Given the description of an element on the screen output the (x, y) to click on. 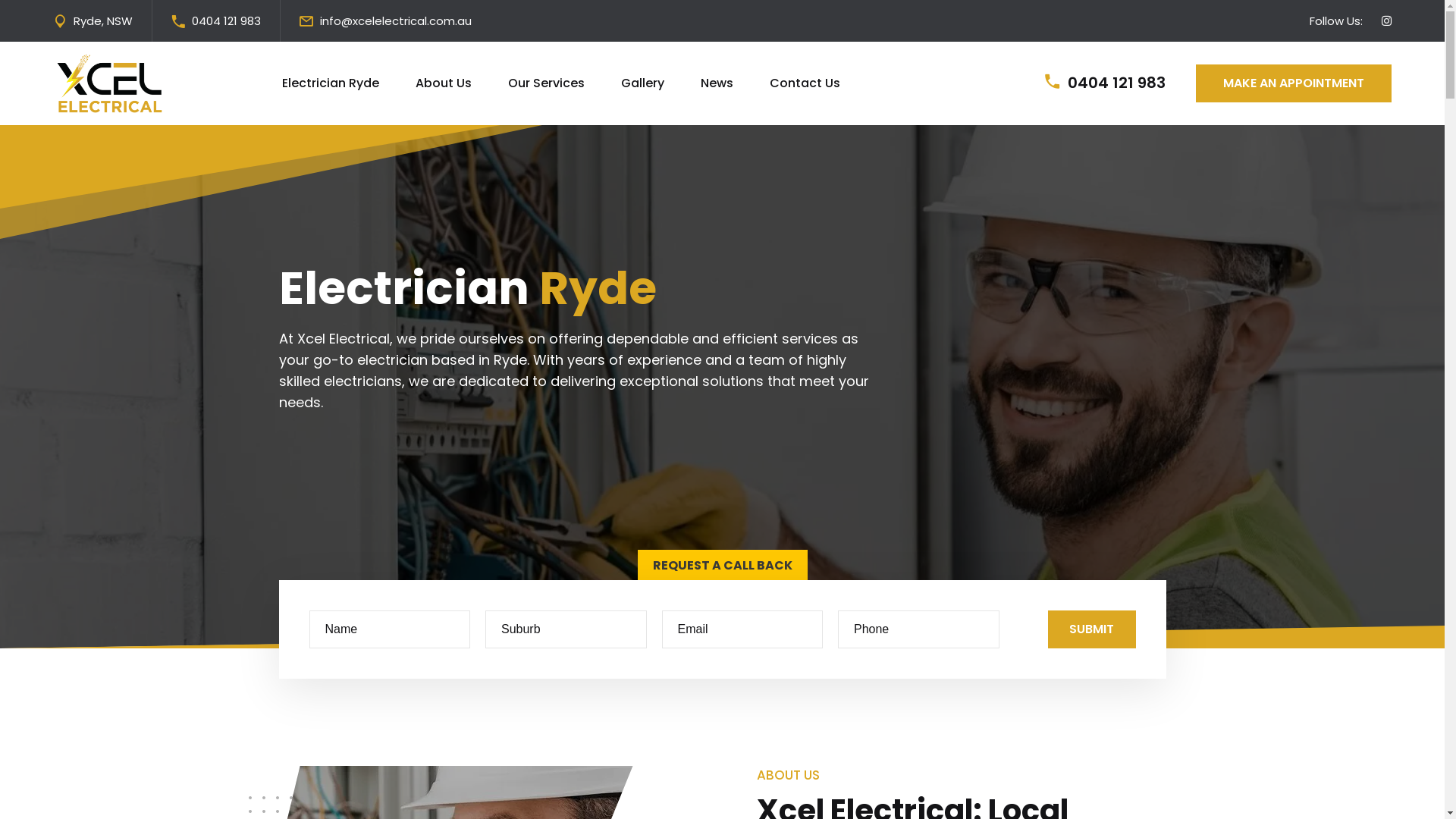
SUBMIT Element type: text (1091, 629)
Contact Us Element type: text (804, 83)
About Us Element type: text (443, 83)
0404 121 983 Element type: text (225, 21)
Our Services Element type: text (546, 83)
info@xcelelectrical.com.au Element type: text (395, 21)
MAKE AN APPOINTMENT Element type: text (1293, 83)
0404 121 983 Element type: text (1116, 82)
News Element type: text (716, 83)
Gallery Element type: text (642, 83)
Electrician Ryde Element type: text (330, 83)
